Given the description of an element on the screen output the (x, y) to click on. 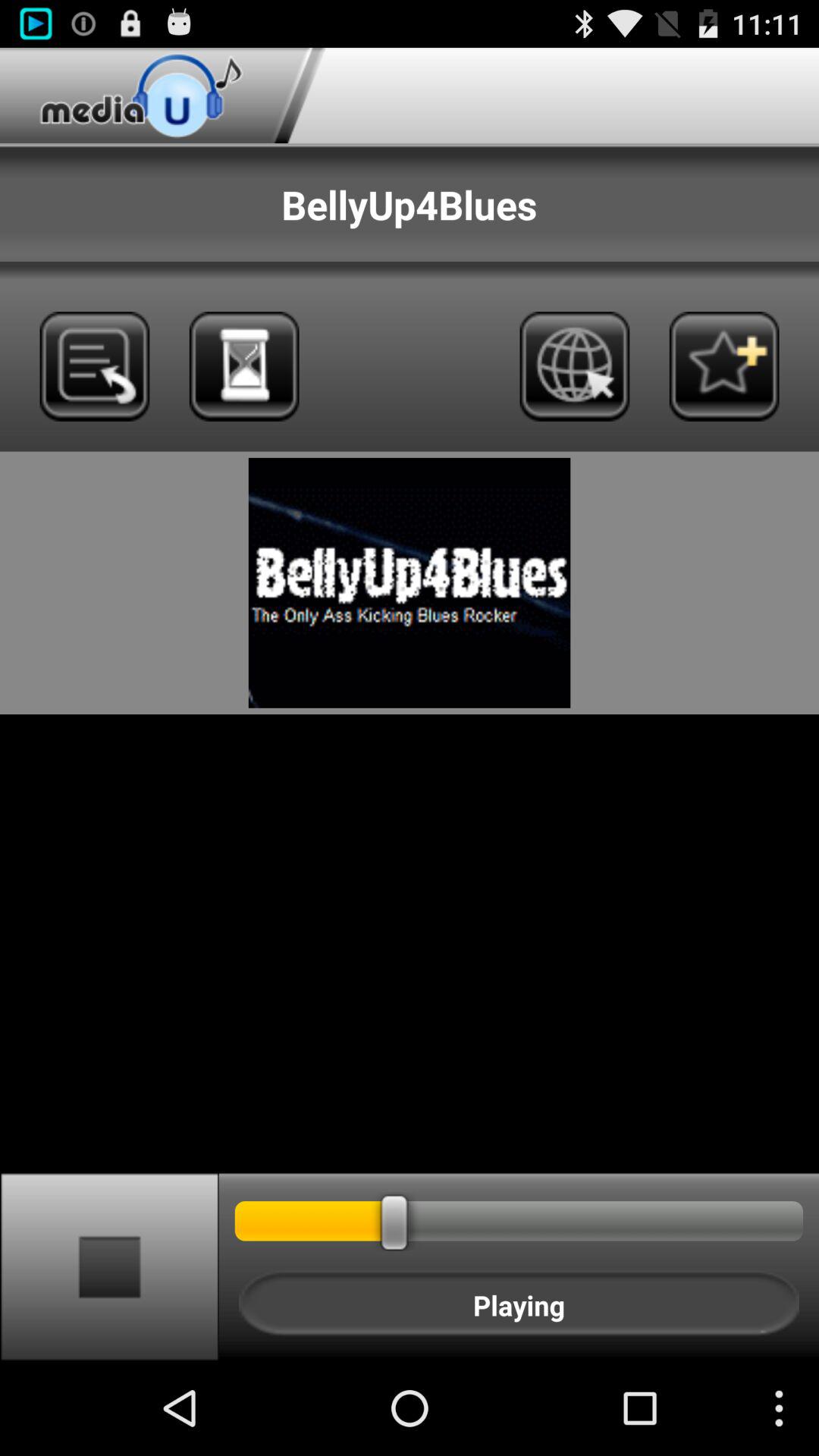
add to favorites (724, 366)
